Given the description of an element on the screen output the (x, y) to click on. 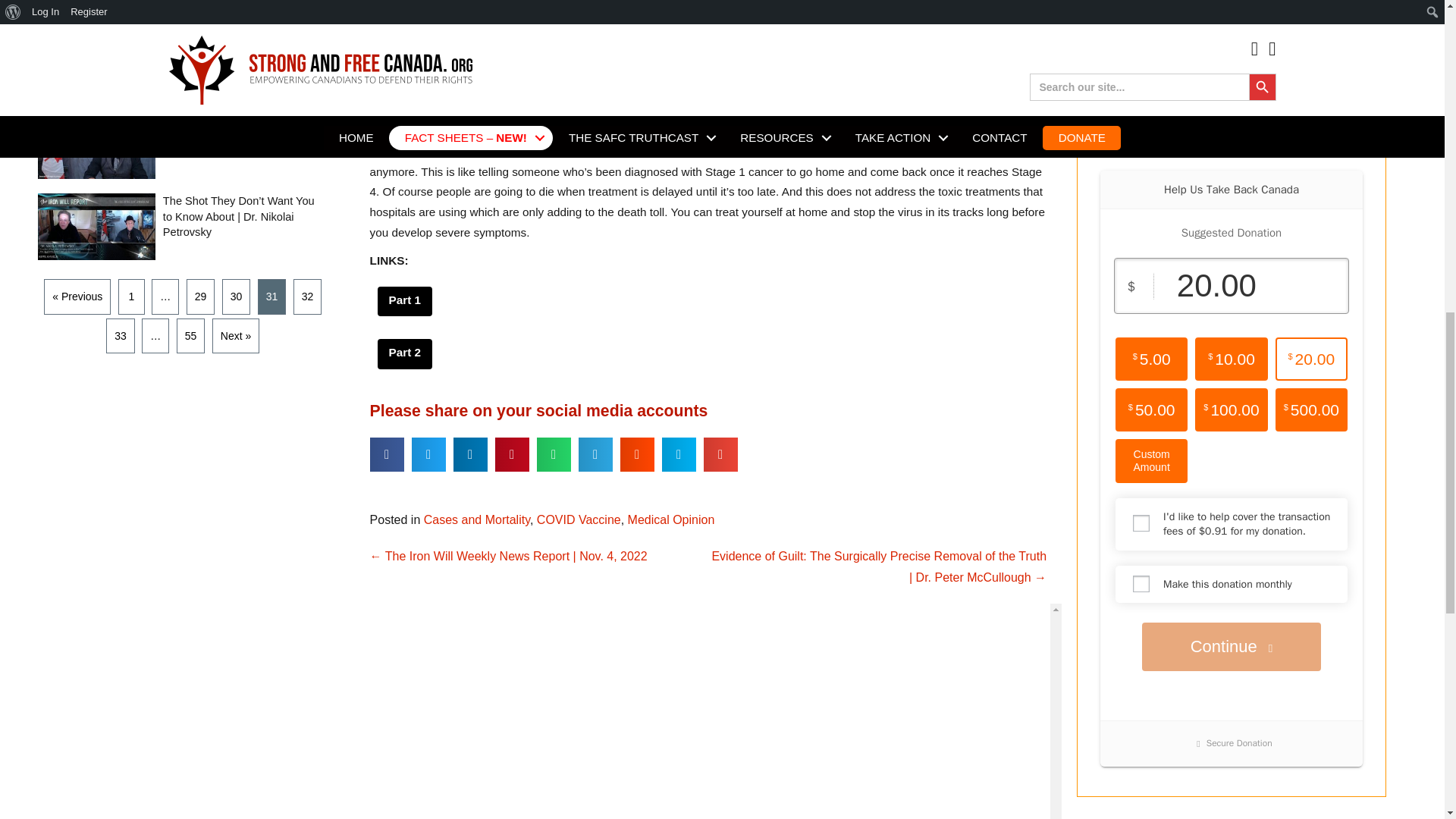
Ryan Clare featured image (96, 64)
October 14 featured image (96, 7)
